Given the description of an element on the screen output the (x, y) to click on. 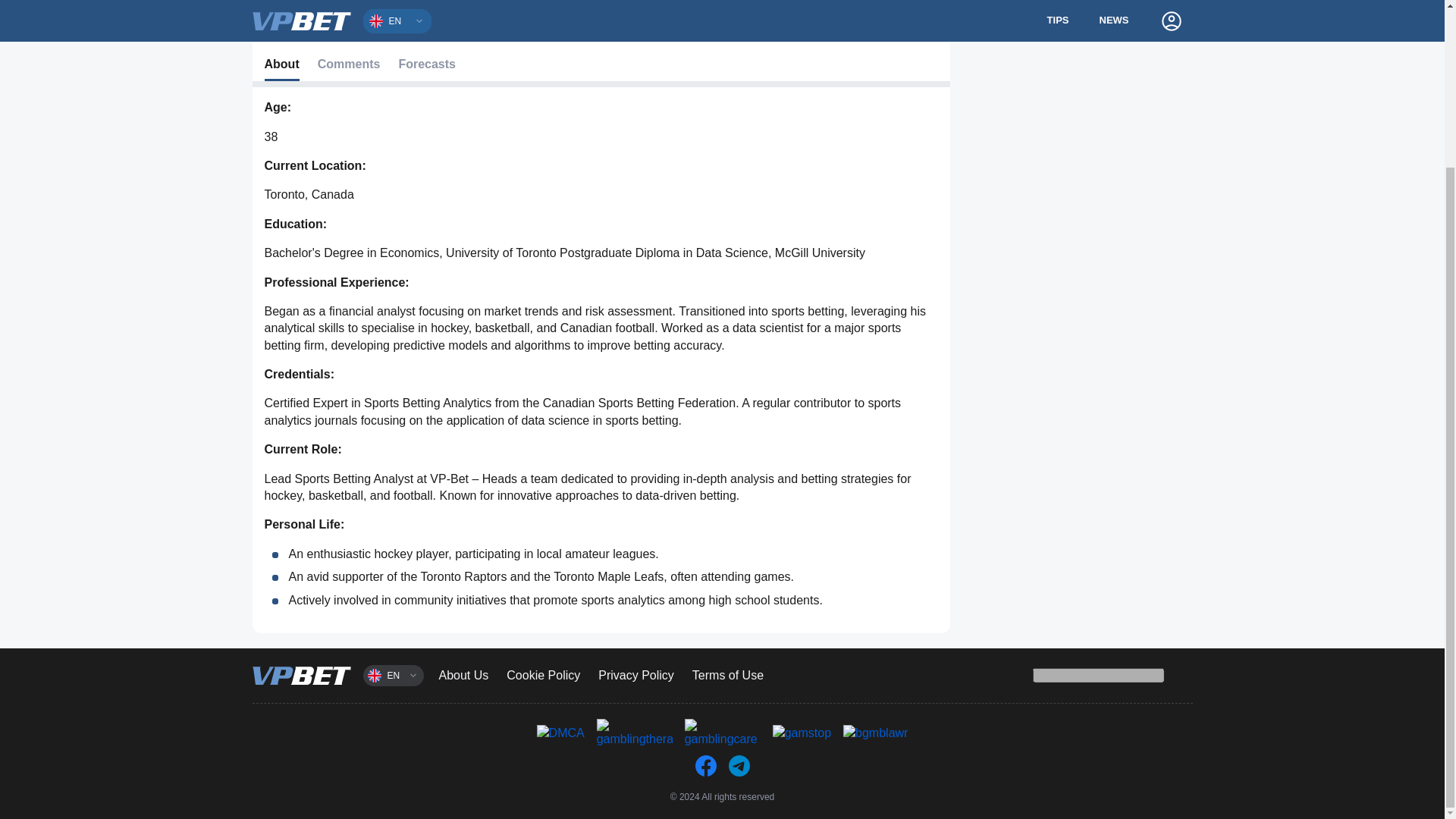
Forecasts (426, 65)
Terms of Use (727, 675)
About (280, 65)
About Us (462, 675)
Cookie Policy (542, 675)
Privacy Policy (636, 675)
Comments (348, 65)
